Given the description of an element on the screen output the (x, y) to click on. 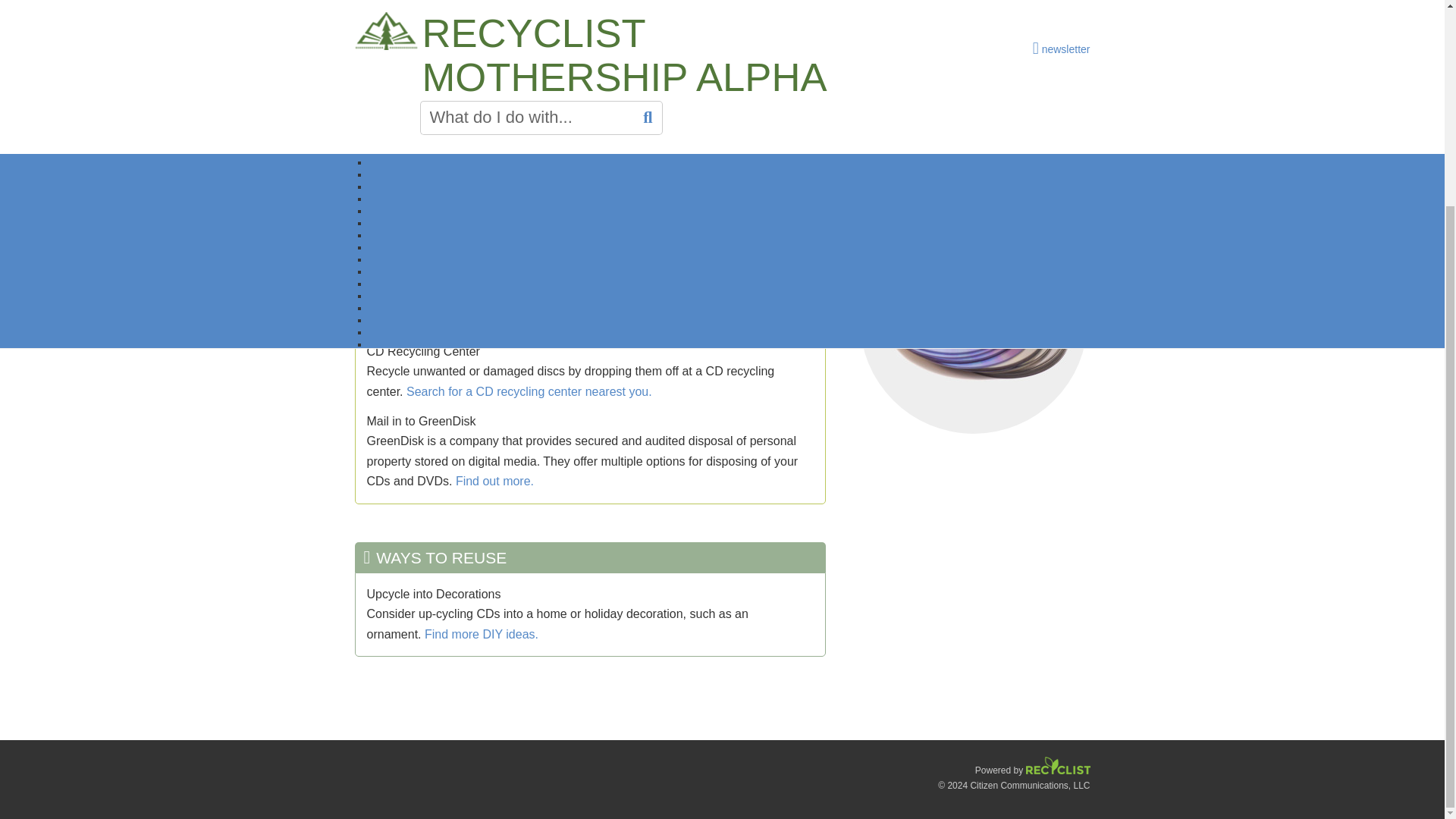
TAKE TO E-WASTE EVENT (715, 173)
